Given the description of an element on the screen output the (x, y) to click on. 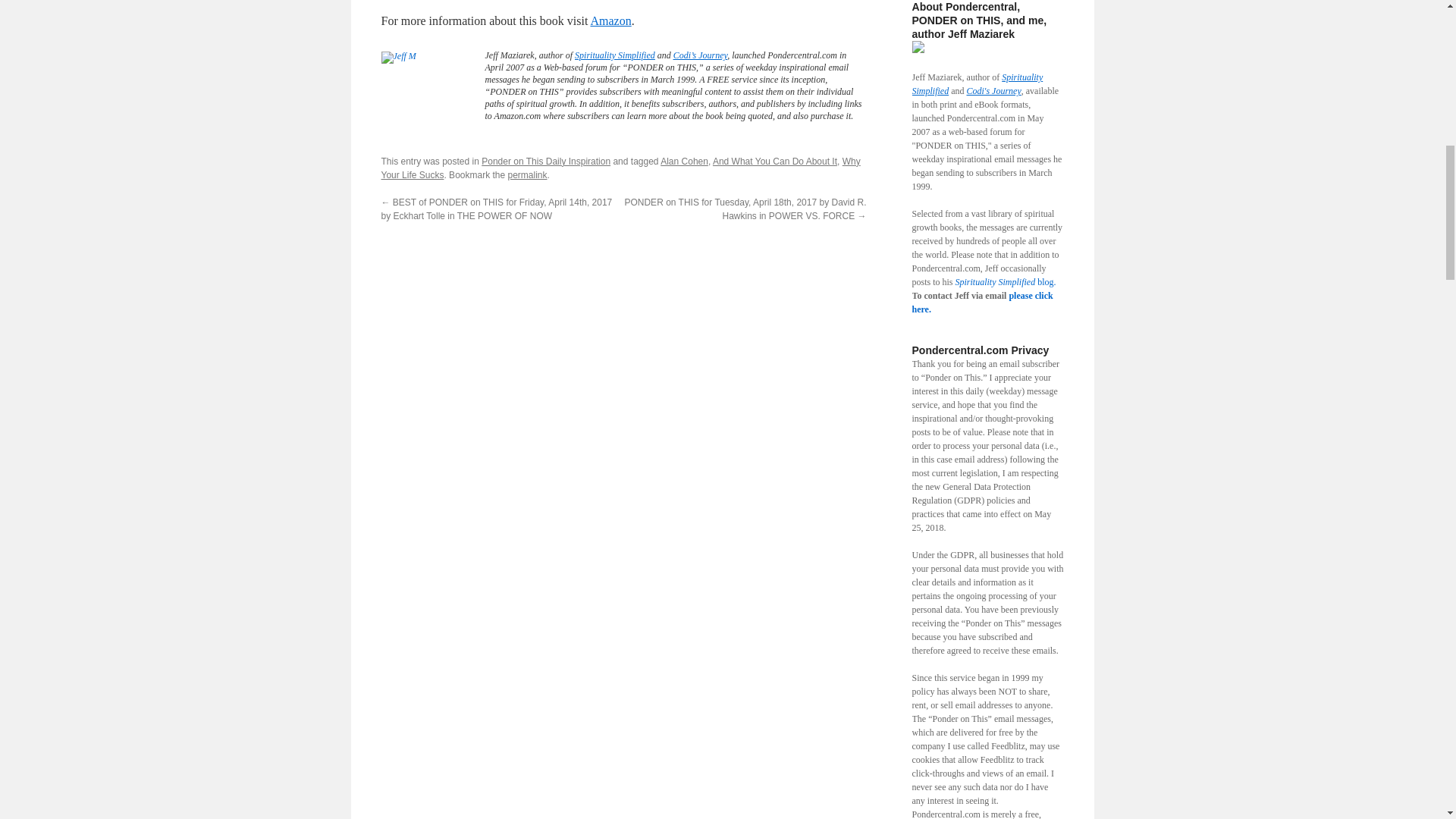
Alan Cohen (684, 161)
Amazon (609, 20)
Spirituality Simplified blog. (1006, 281)
Codi's Journey (993, 90)
permalink (527, 174)
please click here. (981, 302)
And What You Can Do About It (775, 161)
Ponder on This Daily Inspiration (545, 161)
Spirituality Simplified (615, 54)
Spirituality Simplified (976, 84)
Why Your Life Sucks (620, 168)
